Given the description of an element on the screen output the (x, y) to click on. 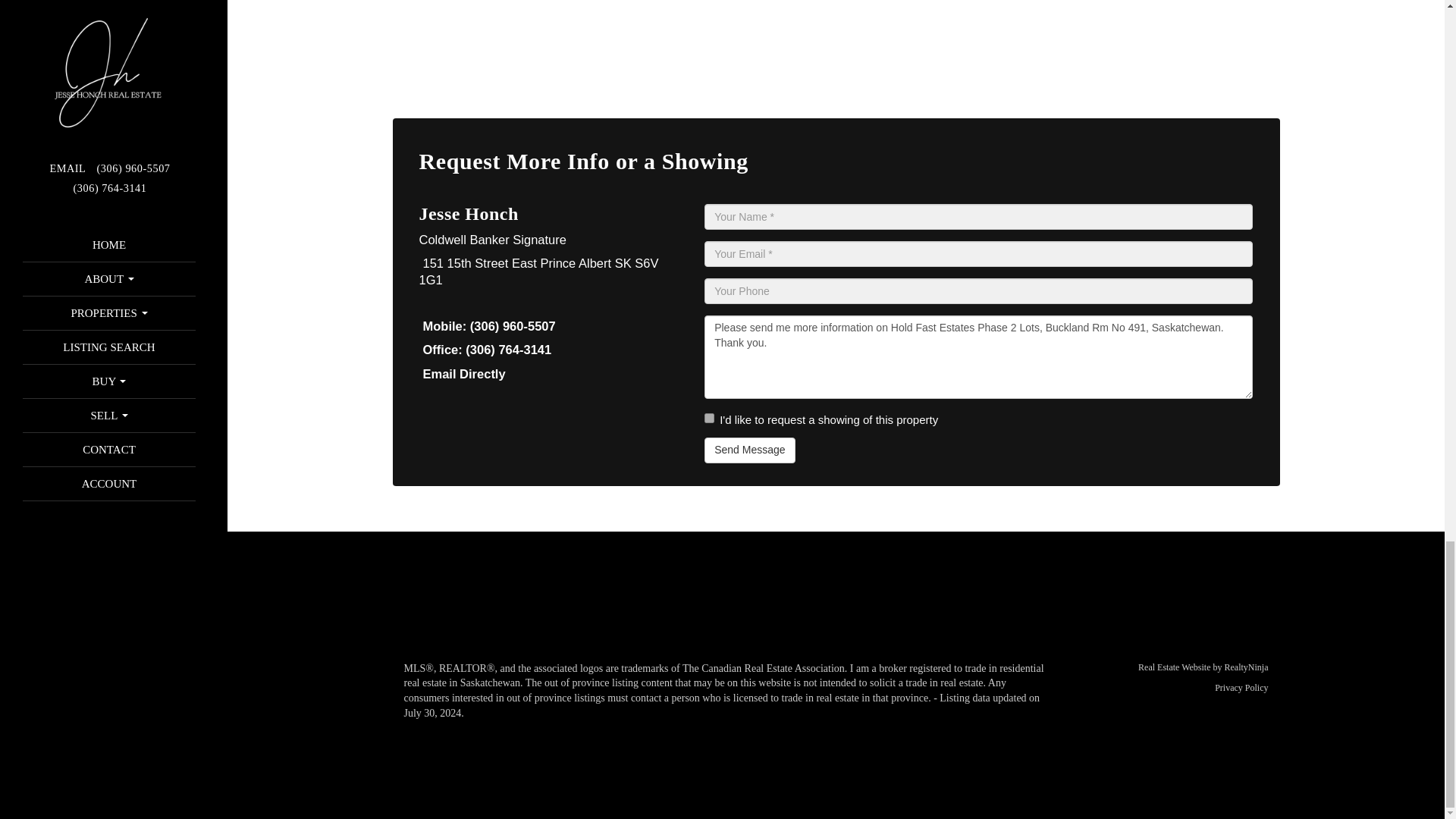
Walk Score (1131, 36)
on (709, 418)
